Given the description of an element on the screen output the (x, y) to click on. 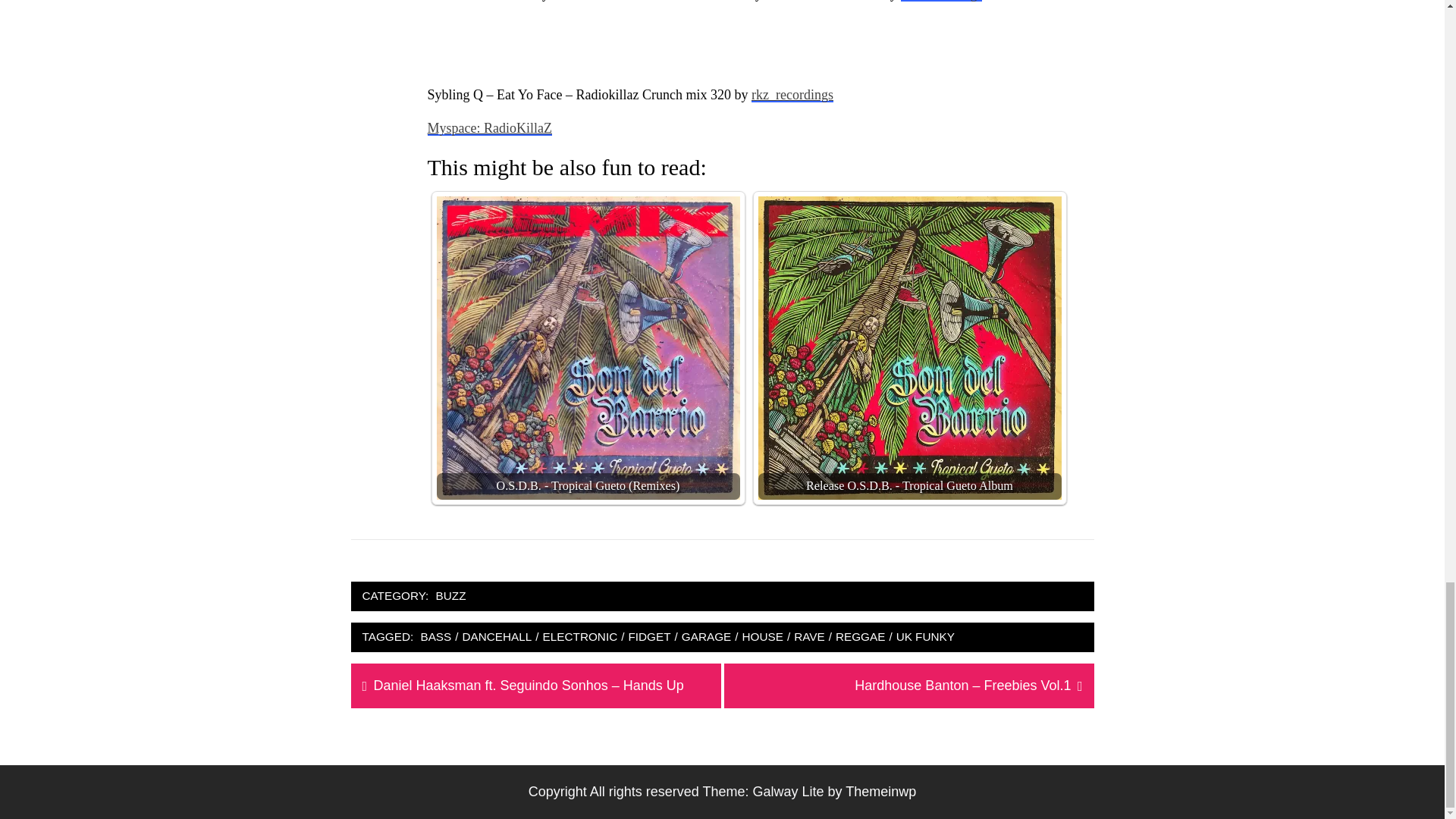
DANCEHALL (496, 637)
Release O.S.D.B. - Tropical Gueto Album (909, 347)
BASS (435, 637)
Myspace: RadioKillaZ (489, 127)
BUZZ (451, 596)
Release O.S.D.B.  - Tropical Gueto Album (909, 347)
